Given the description of an element on the screen output the (x, y) to click on. 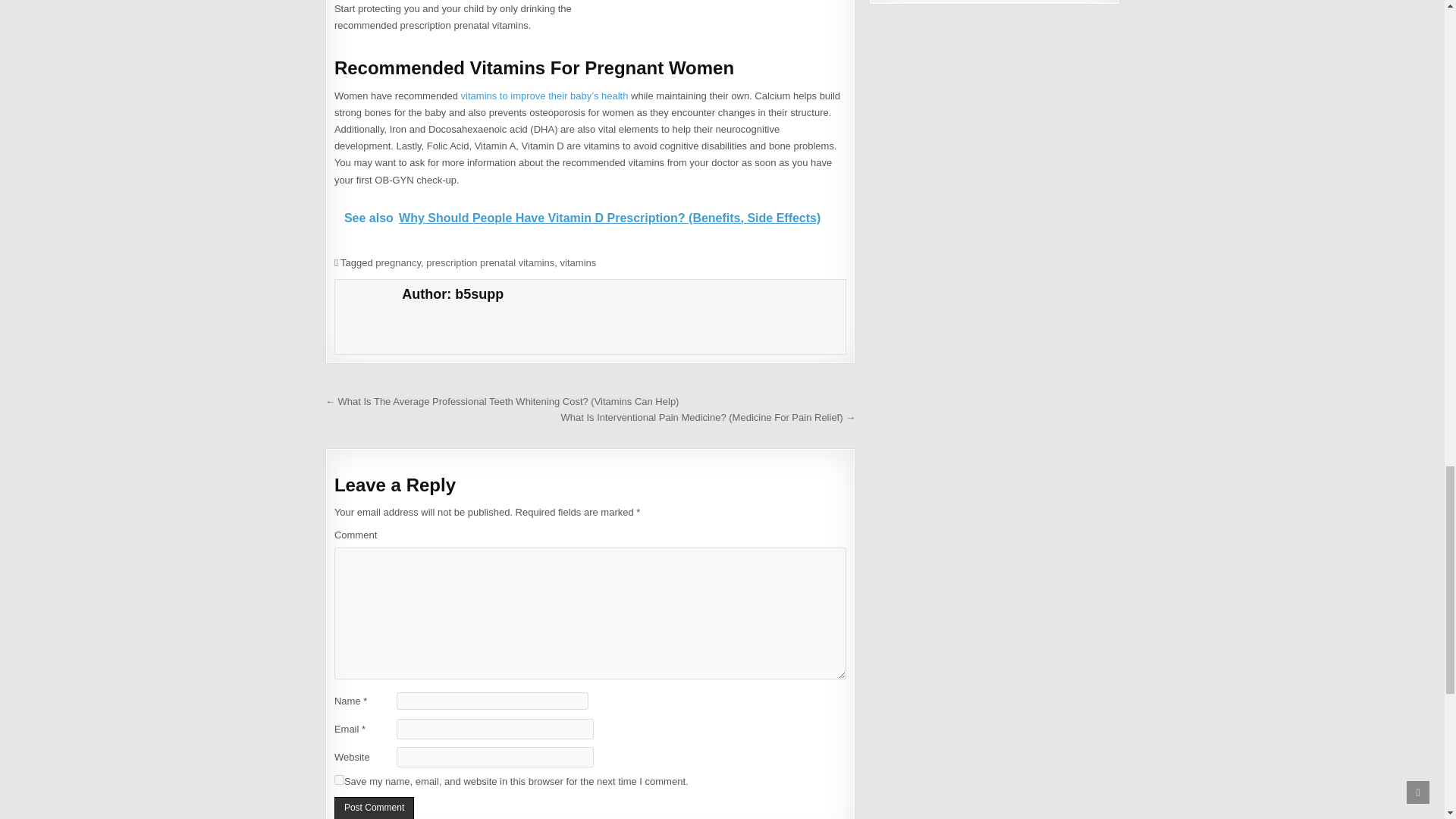
Post Comment (373, 807)
prescription prenatal vitamins (490, 262)
pregnancy (397, 262)
yes (338, 779)
vitamins (578, 262)
